Given the description of an element on the screen output the (x, y) to click on. 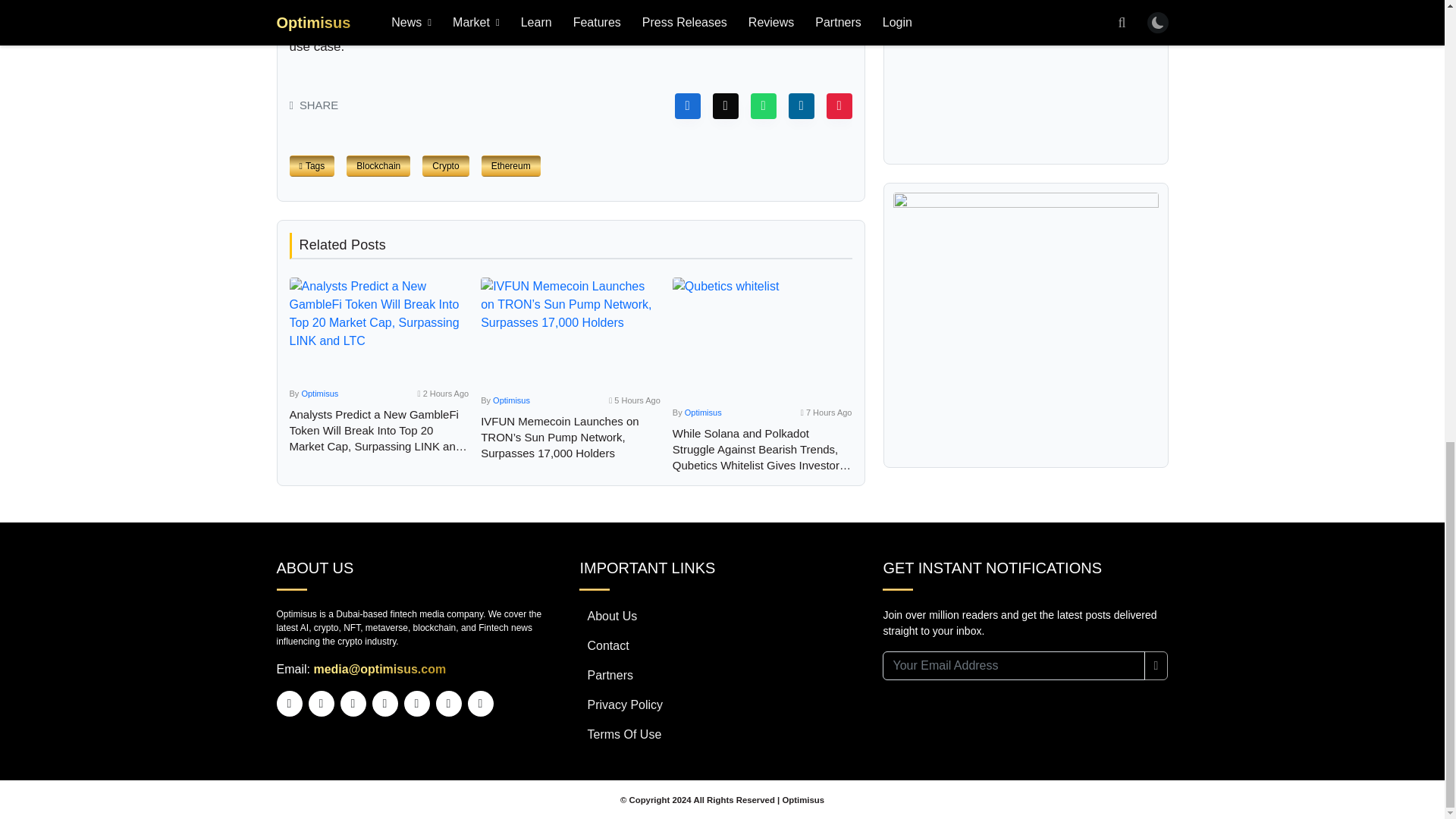
Blockchain (378, 165)
unveiled (313, 27)
Ethereum (510, 165)
Crypto (445, 165)
